Given the description of an element on the screen output the (x, y) to click on. 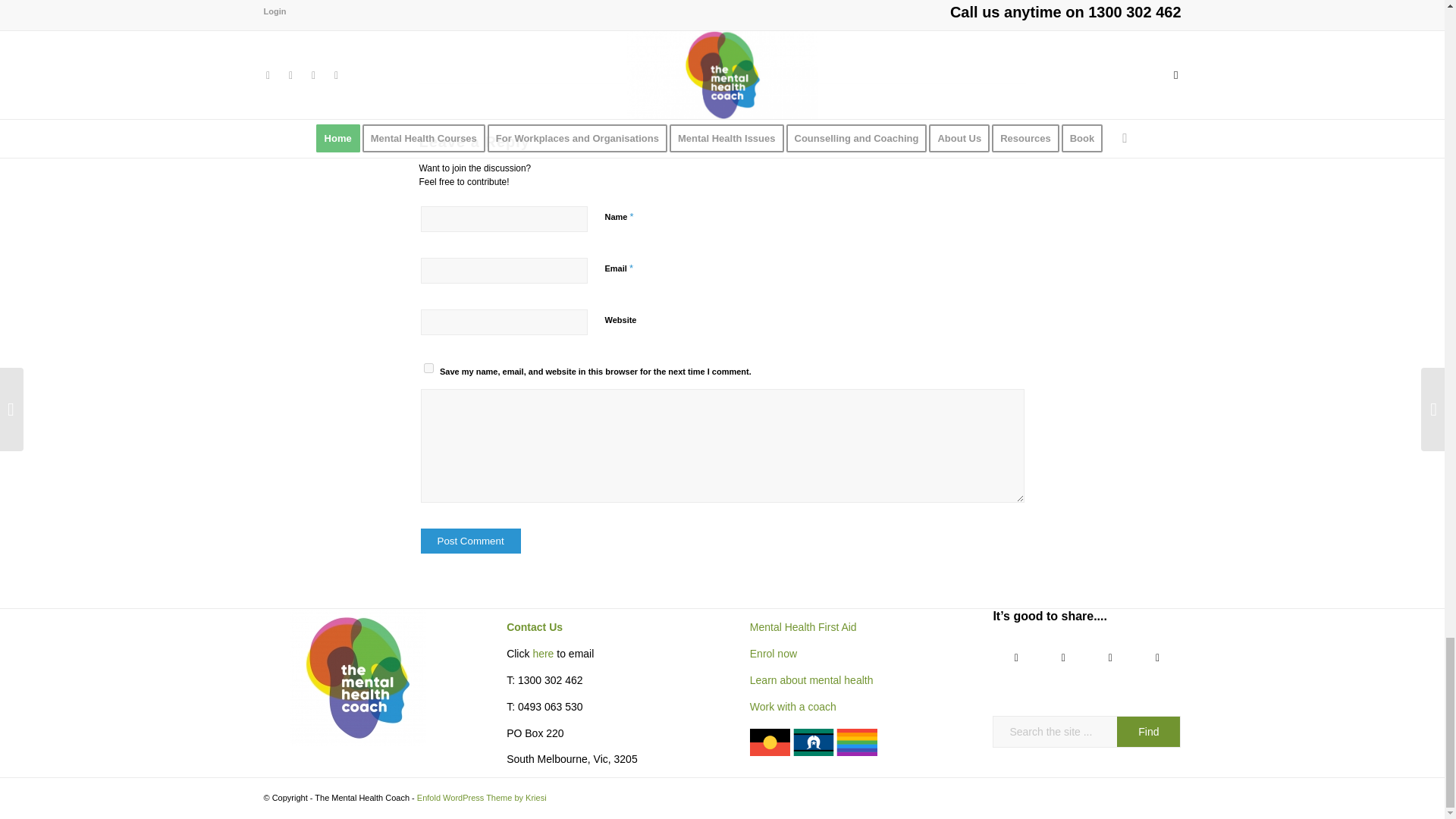
Find (1147, 731)
yes (427, 368)
Post Comment (469, 540)
